Given the description of an element on the screen output the (x, y) to click on. 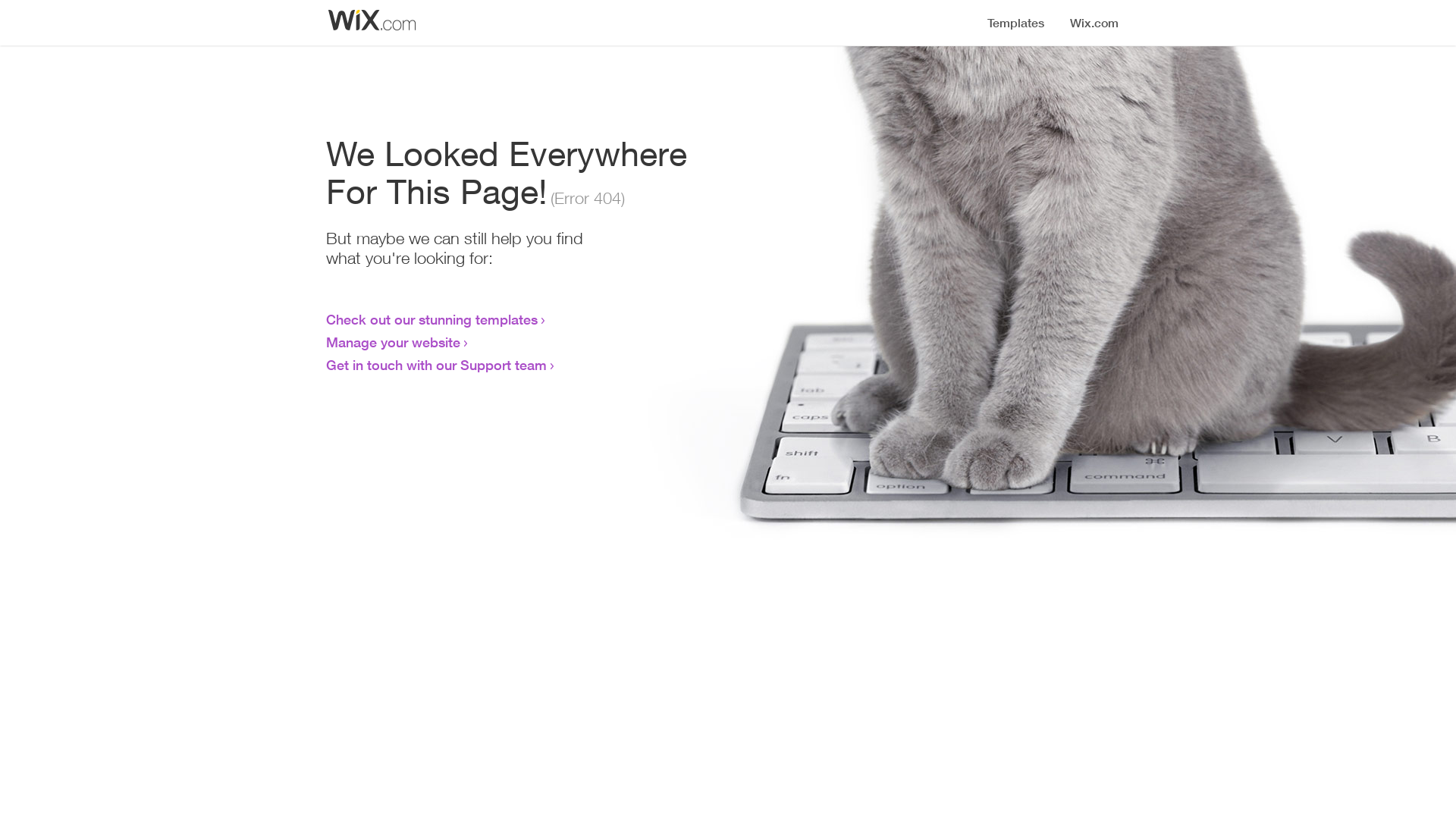
Manage your website Element type: text (393, 341)
Check out our stunning templates Element type: text (431, 318)
Get in touch with our Support team Element type: text (436, 364)
